Given the description of an element on the screen output the (x, y) to click on. 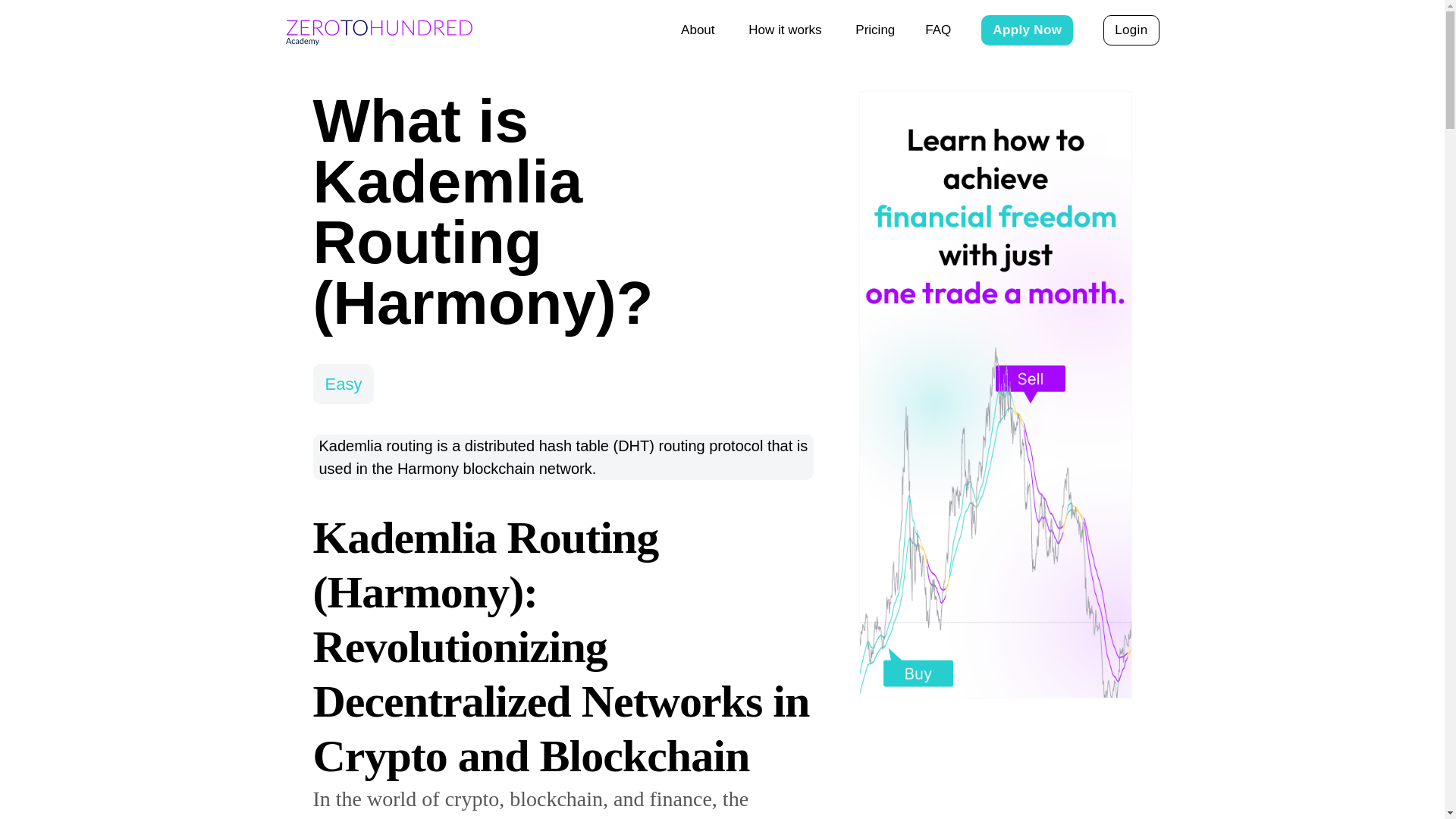
Pricing (875, 29)
Apply Now (1027, 30)
Login (1130, 30)
FAQ (937, 29)
How it works  (786, 29)
About  (699, 29)
